Given the description of an element on the screen output the (x, y) to click on. 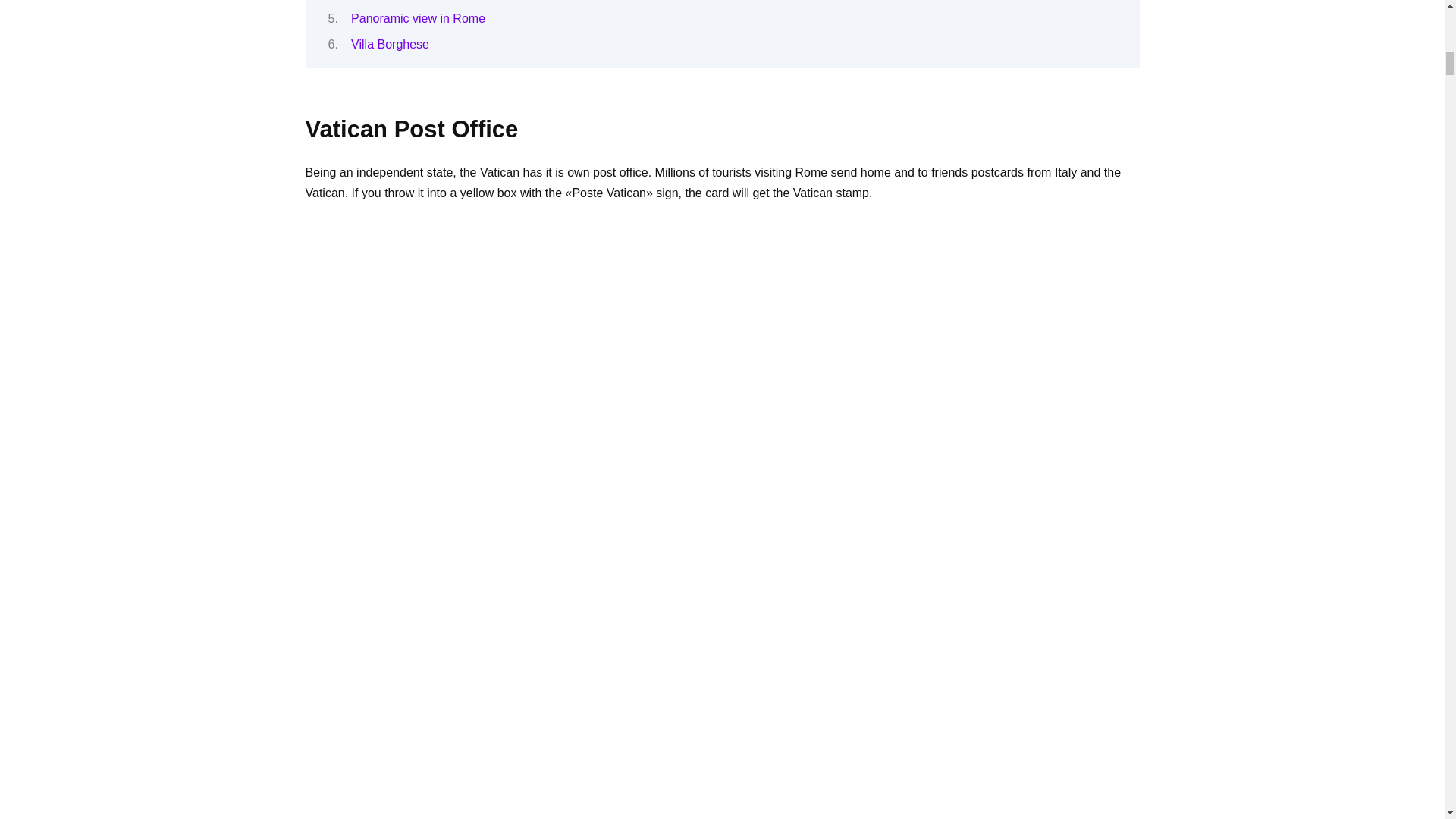
Villa Borghese (389, 43)
Panoramic view in Rome (417, 18)
How to send a postcard in Vatican (721, 759)
